Given the description of an element on the screen output the (x, y) to click on. 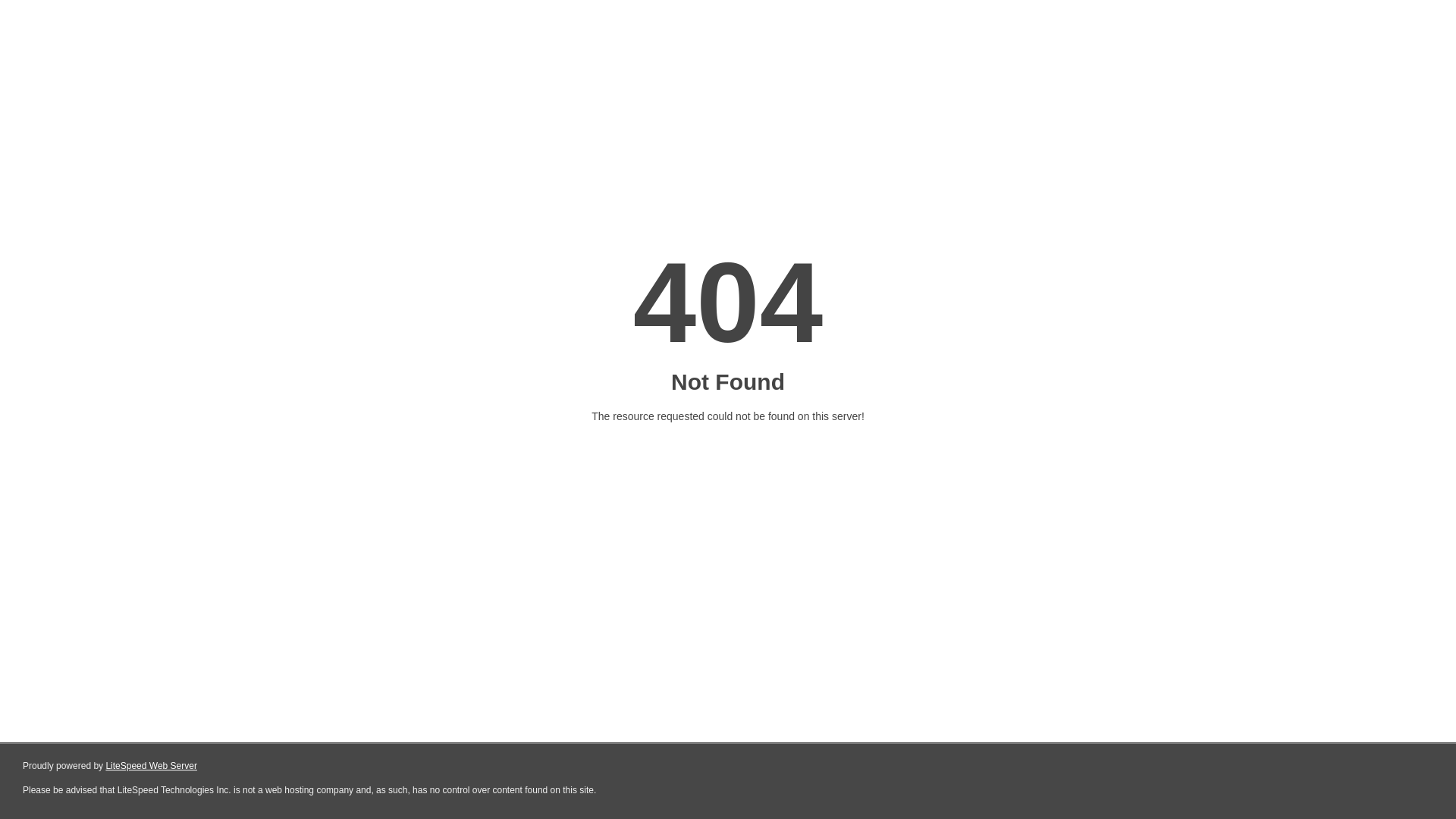
LiteSpeed Web Server Element type: text (151, 765)
